Given the description of an element on the screen output the (x, y) to click on. 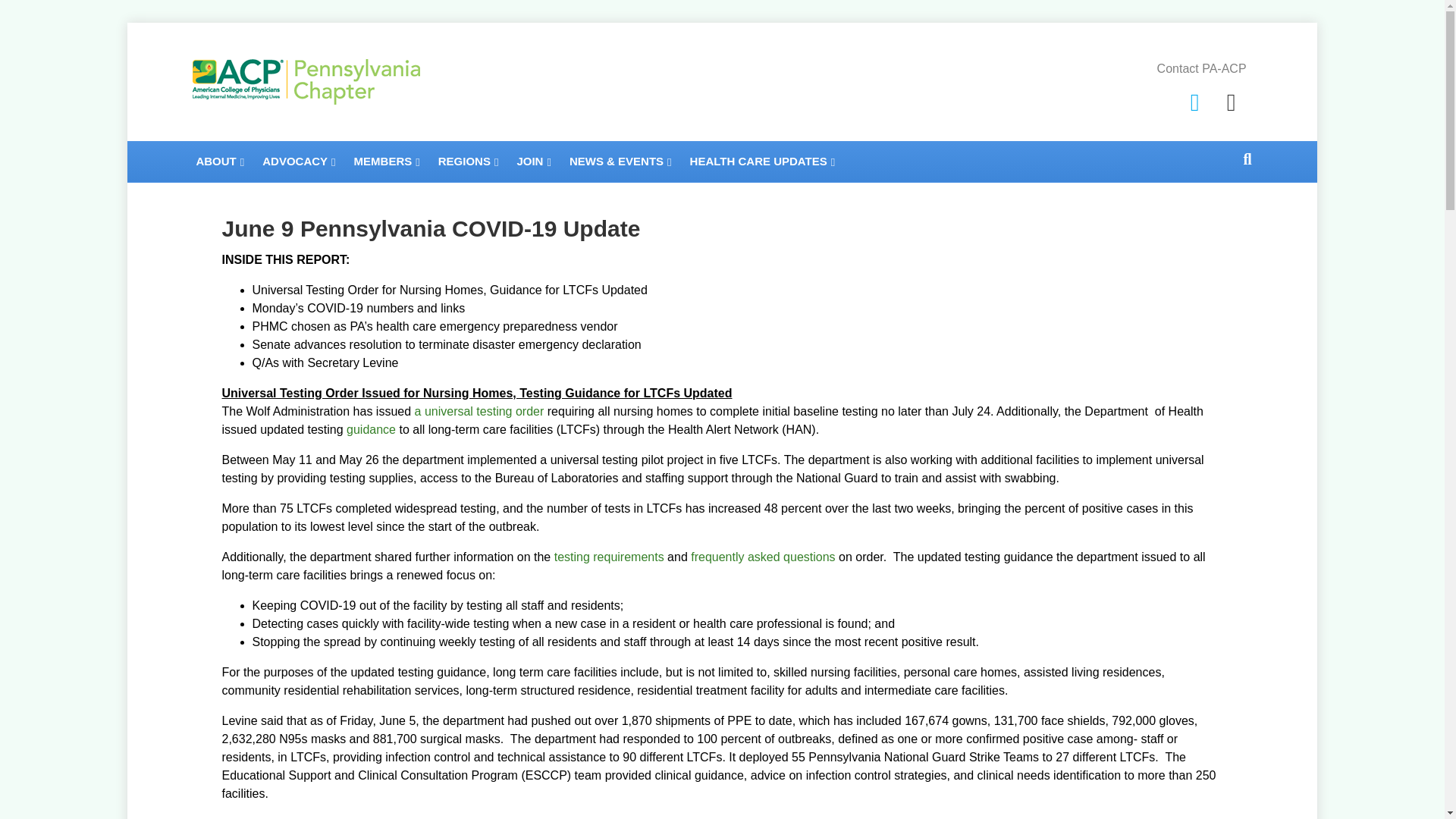
ADVOCACY (298, 161)
REGIONS (468, 161)
Email (1230, 102)
JOIN (533, 161)
MEMBERS (387, 161)
Contact PA-ACP (1201, 68)
ABOUT (219, 161)
Twitter (1194, 102)
